Given the description of an element on the screen output the (x, y) to click on. 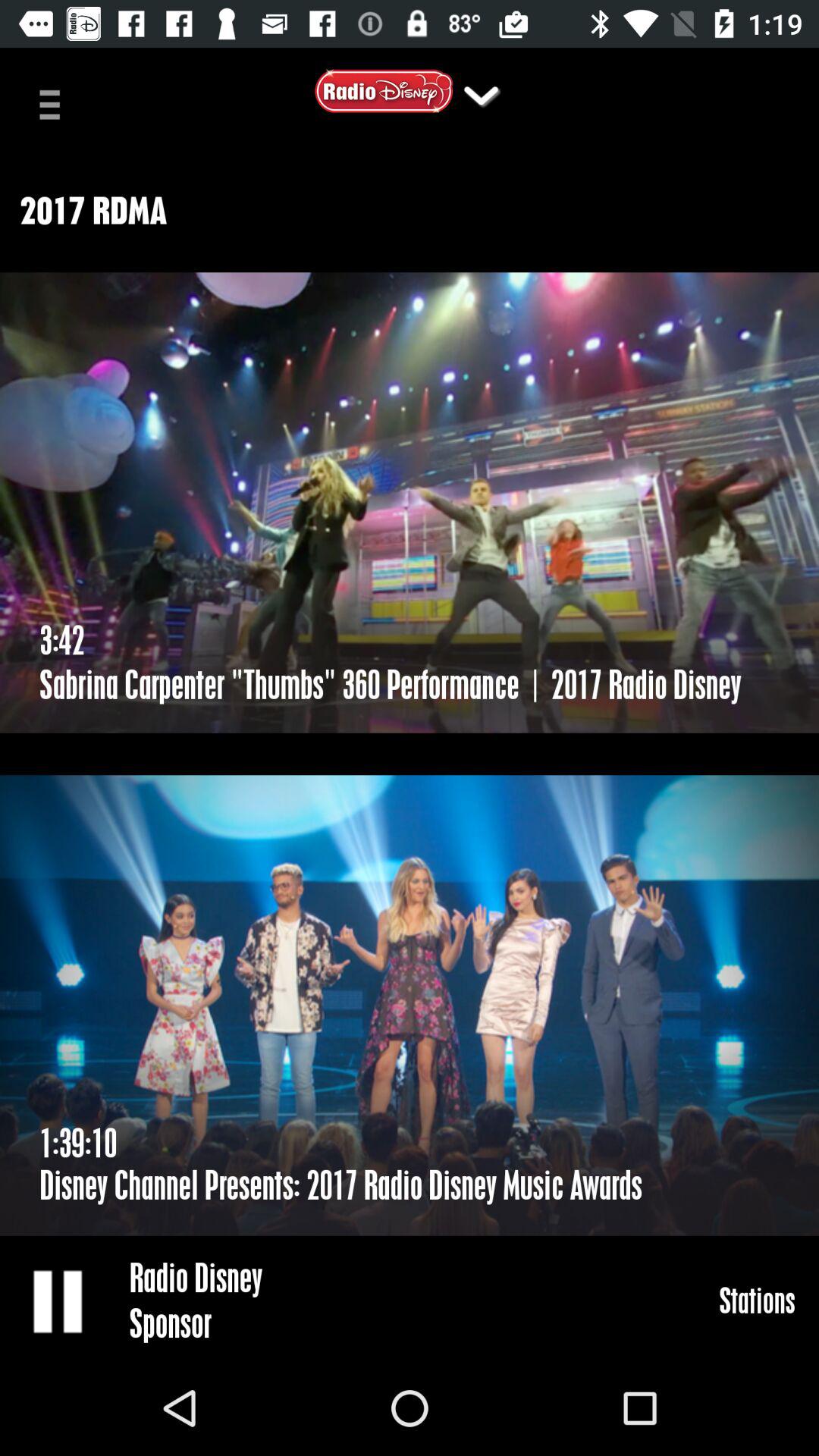
select the icon to the right of the radio disney item (757, 1300)
